Given the description of an element on the screen output the (x, y) to click on. 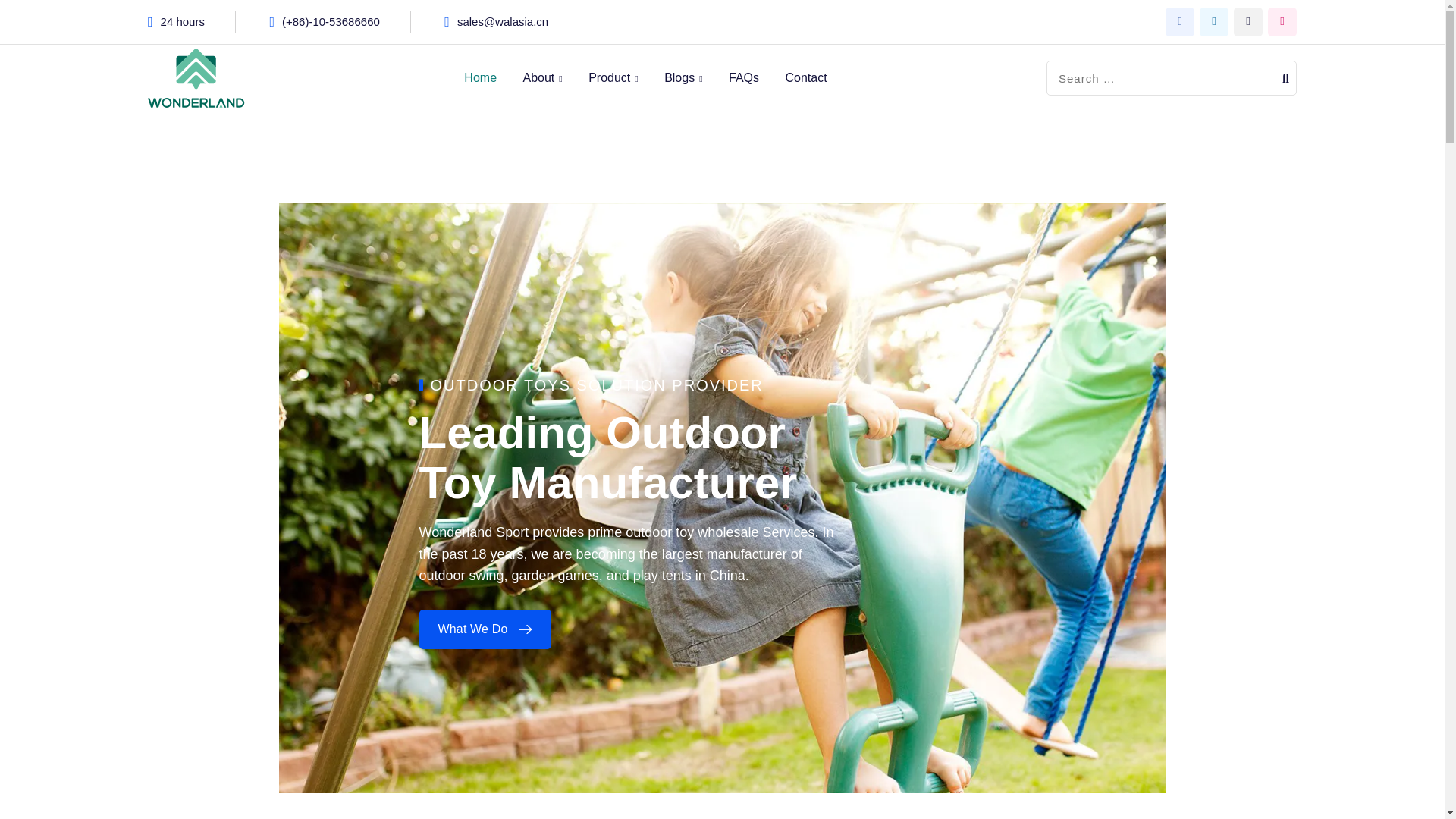
Product (612, 78)
About (542, 78)
Blogs (682, 78)
Contact (805, 78)
